Given the description of an element on the screen output the (x, y) to click on. 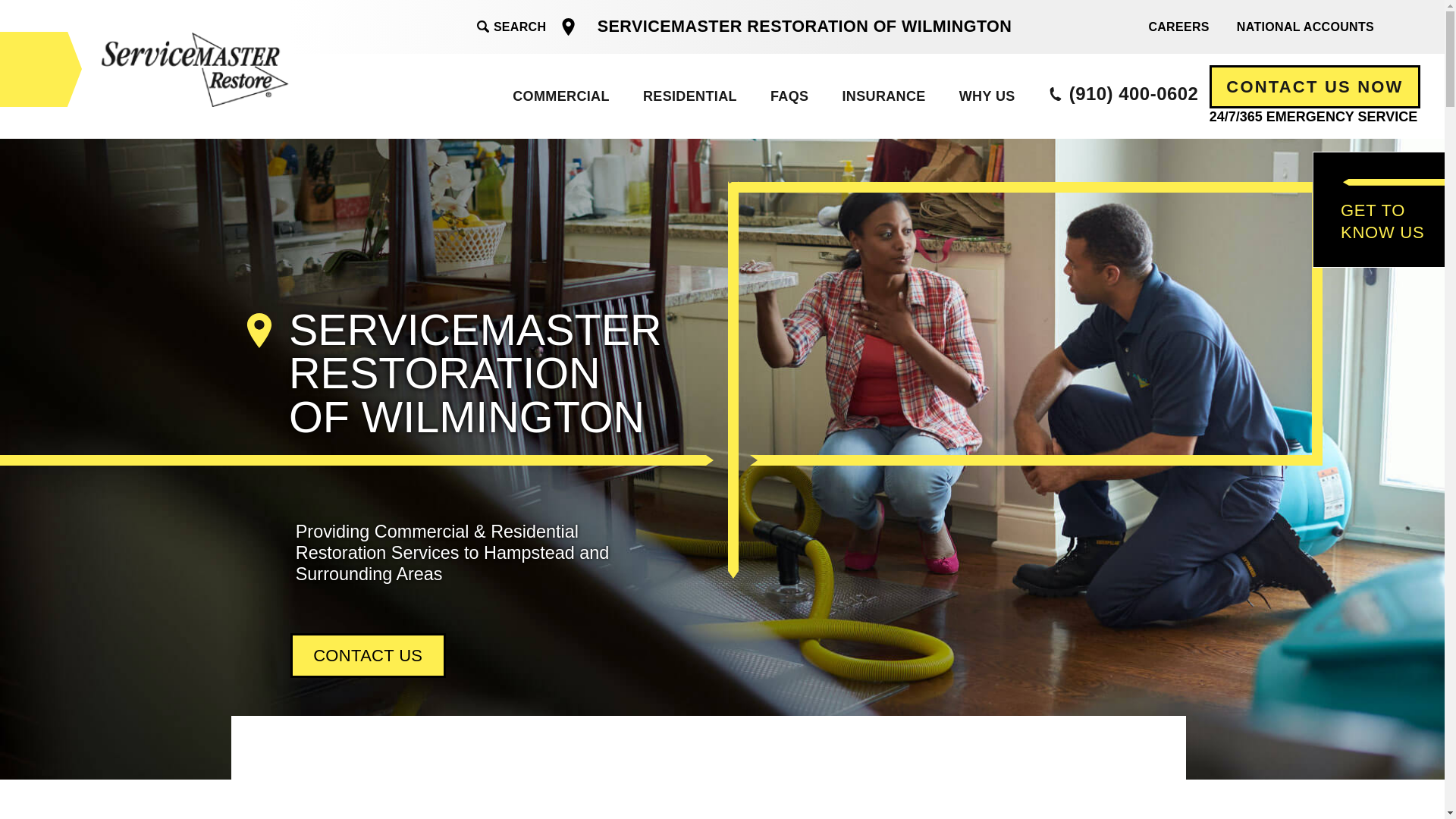
CAREERS (1178, 26)
FAQS (788, 96)
SERVICEMASTER RESTORATION OF WILMINGTON (804, 26)
RESIDENTIAL (689, 96)
COMMERCIAL (561, 96)
NATIONAL ACCOUNTS (1305, 26)
SEARCH (511, 26)
INSURANCE (883, 96)
WHY US (986, 96)
